Given the description of an element on the screen output the (x, y) to click on. 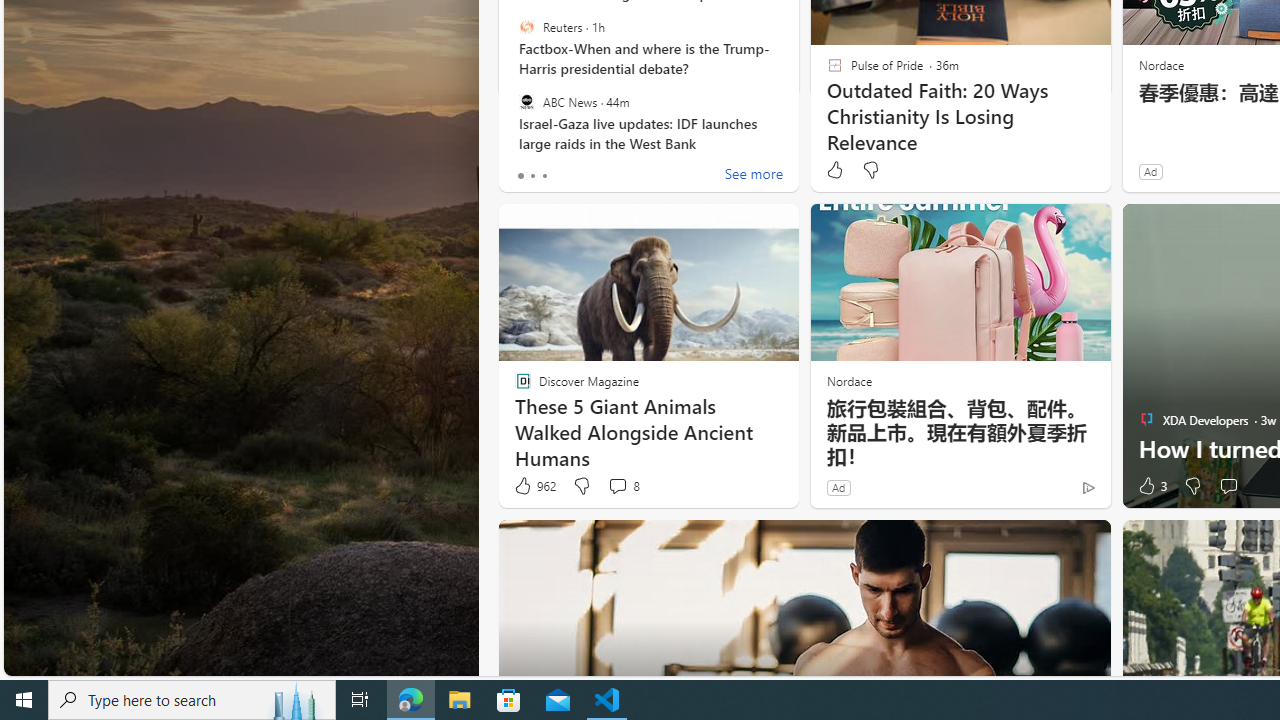
Start the conversation (1227, 485)
Dislike (1191, 485)
tab-1 (532, 175)
Like (834, 170)
3 Like (1151, 485)
ABC News (526, 101)
View comments 8 Comment (617, 485)
tab-0 (520, 175)
tab-2 (543, 175)
Ad (838, 487)
See more (753, 175)
